Given the description of an element on the screen output the (x, y) to click on. 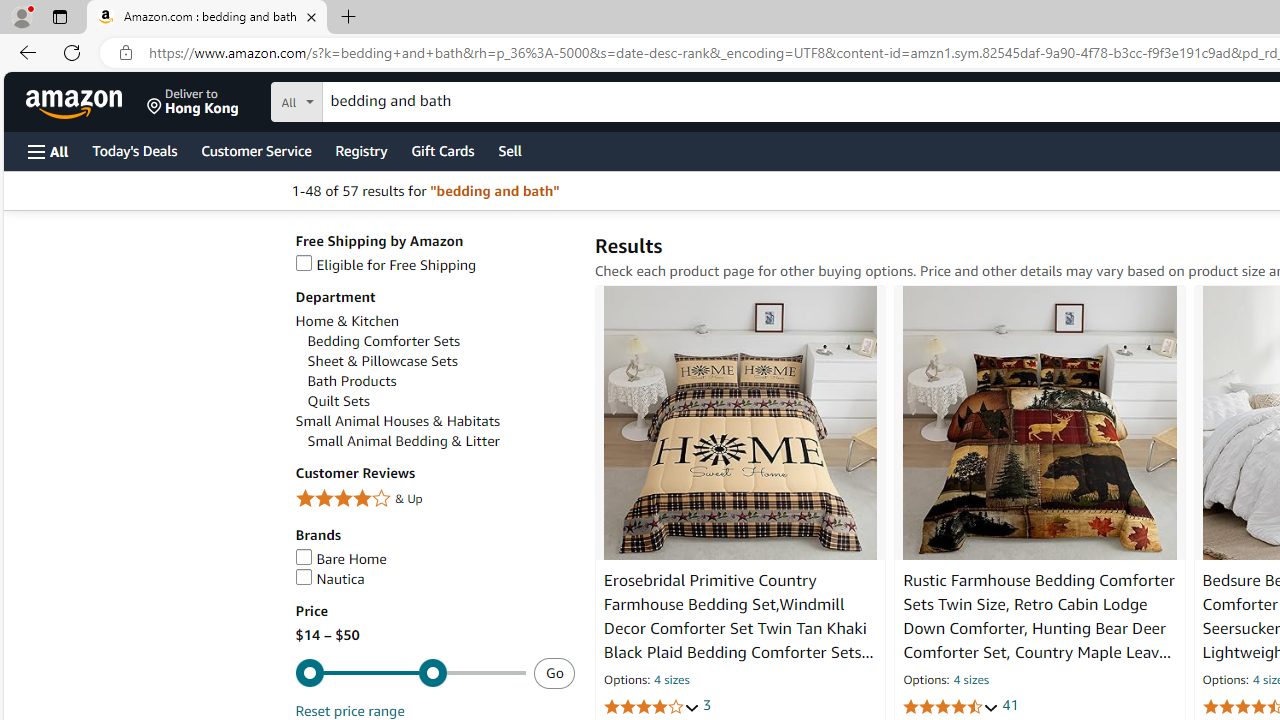
Nautica (434, 579)
3 (706, 705)
Small Animal Bedding & Litter (440, 441)
Sheet & Pillowcase Sets (382, 361)
Today's Deals (134, 150)
Gift Cards (442, 150)
